Given the description of an element on the screen output the (x, y) to click on. 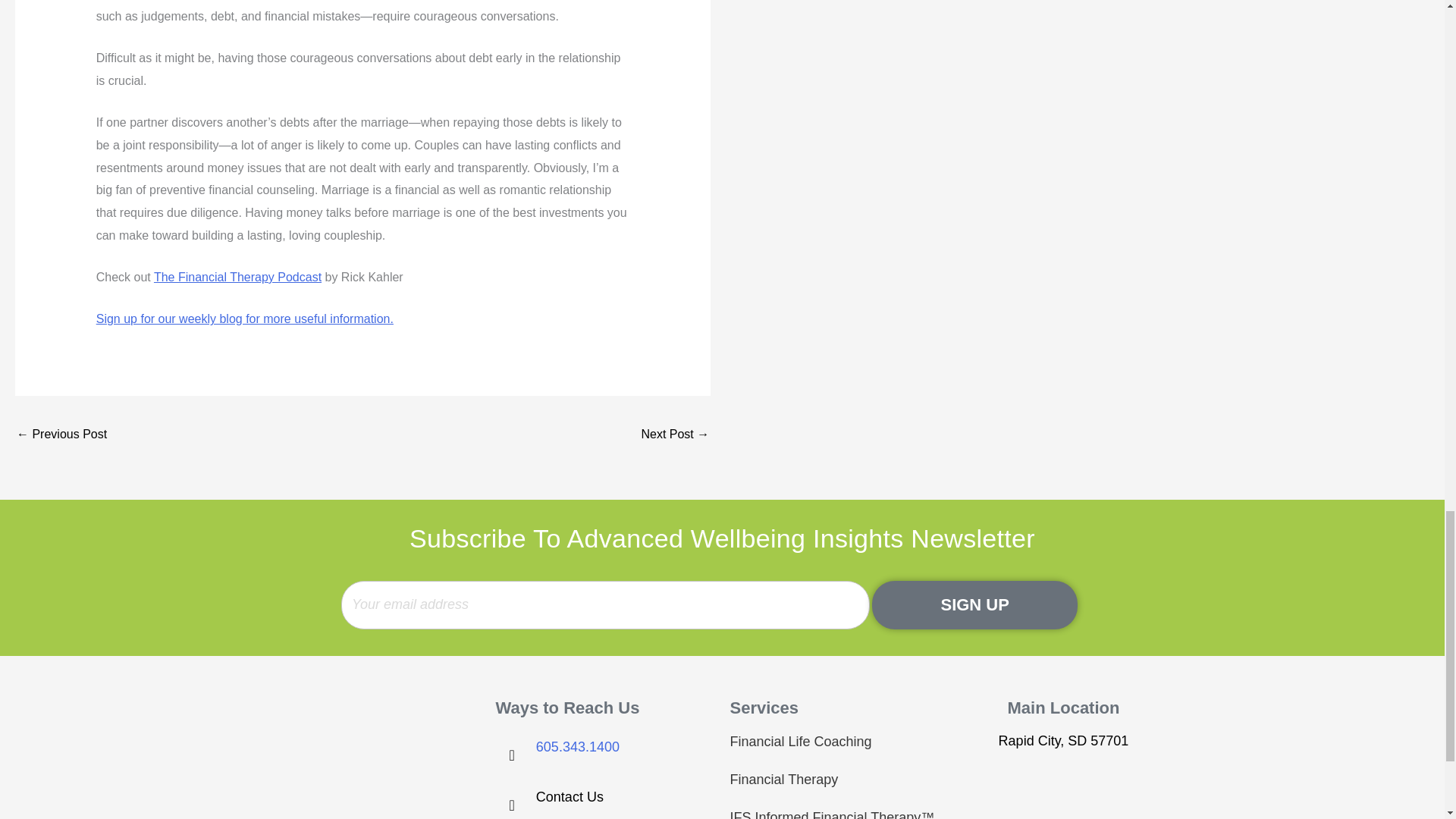
Rapid City, SD 57701 (1062, 790)
Sign up for our weekly blog for more useful information. (244, 318)
Money - Biggest Pain Points of a Relationship (61, 435)
Getting Married - Order a Credit Report (674, 435)
The Financial Therapy Podcast (237, 277)
